Given the description of an element on the screen output the (x, y) to click on. 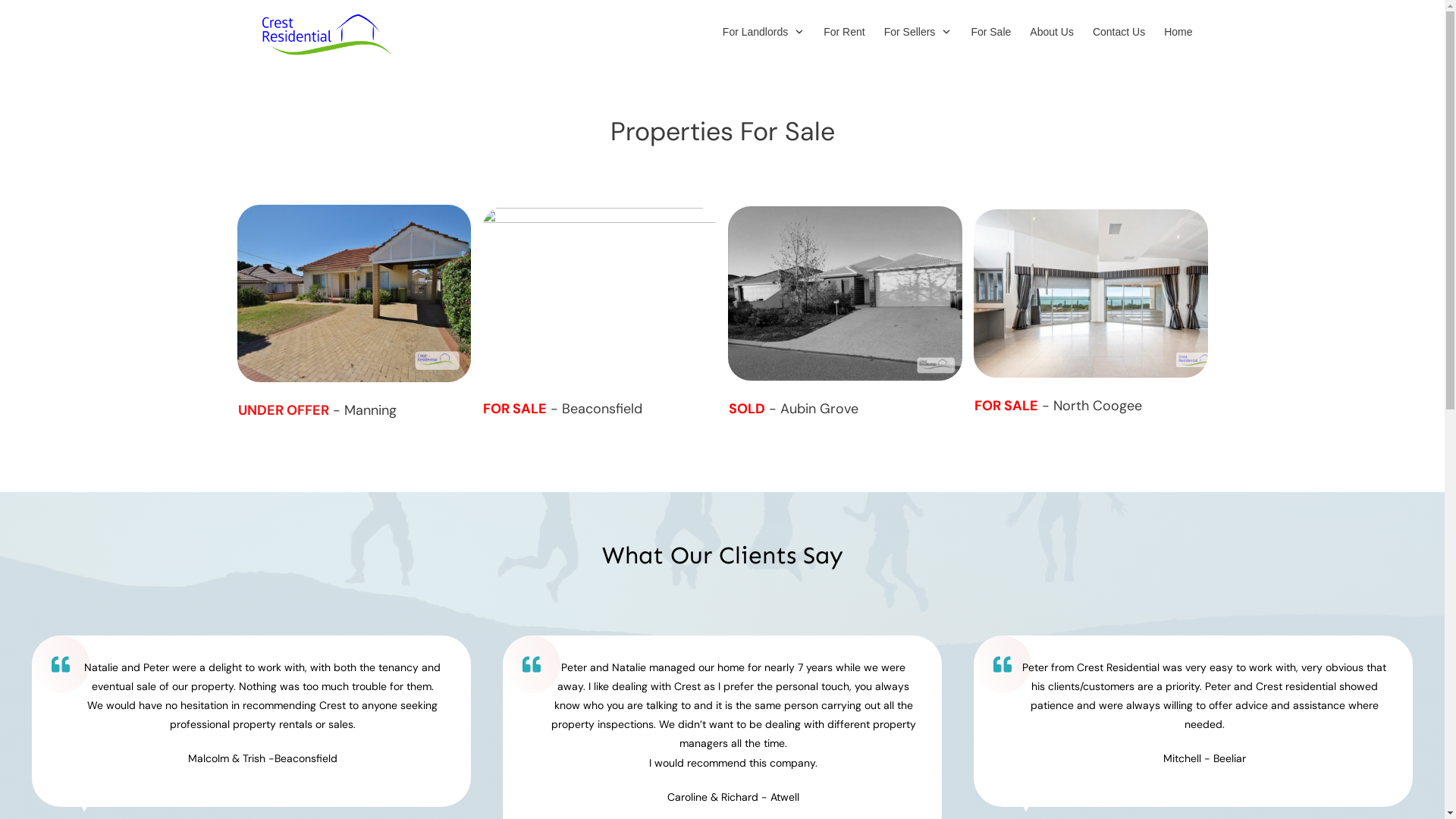
For Rent Element type: text (843, 31)
Home Element type: text (1178, 31)
15 Ponderosa Road, Aubin Grove Element type: hover (845, 292)
1_tn Element type: hover (353, 293)
2 Element type: hover (1099, 293)
About Us Element type: text (1051, 31)
20 Element type: hover (612, 293)
Contact Us Element type: text (1118, 31)
For Sellers Element type: text (918, 31)
For Sale Element type: text (990, 31)
For Landlords Element type: text (763, 31)
